Given the description of an element on the screen output the (x, y) to click on. 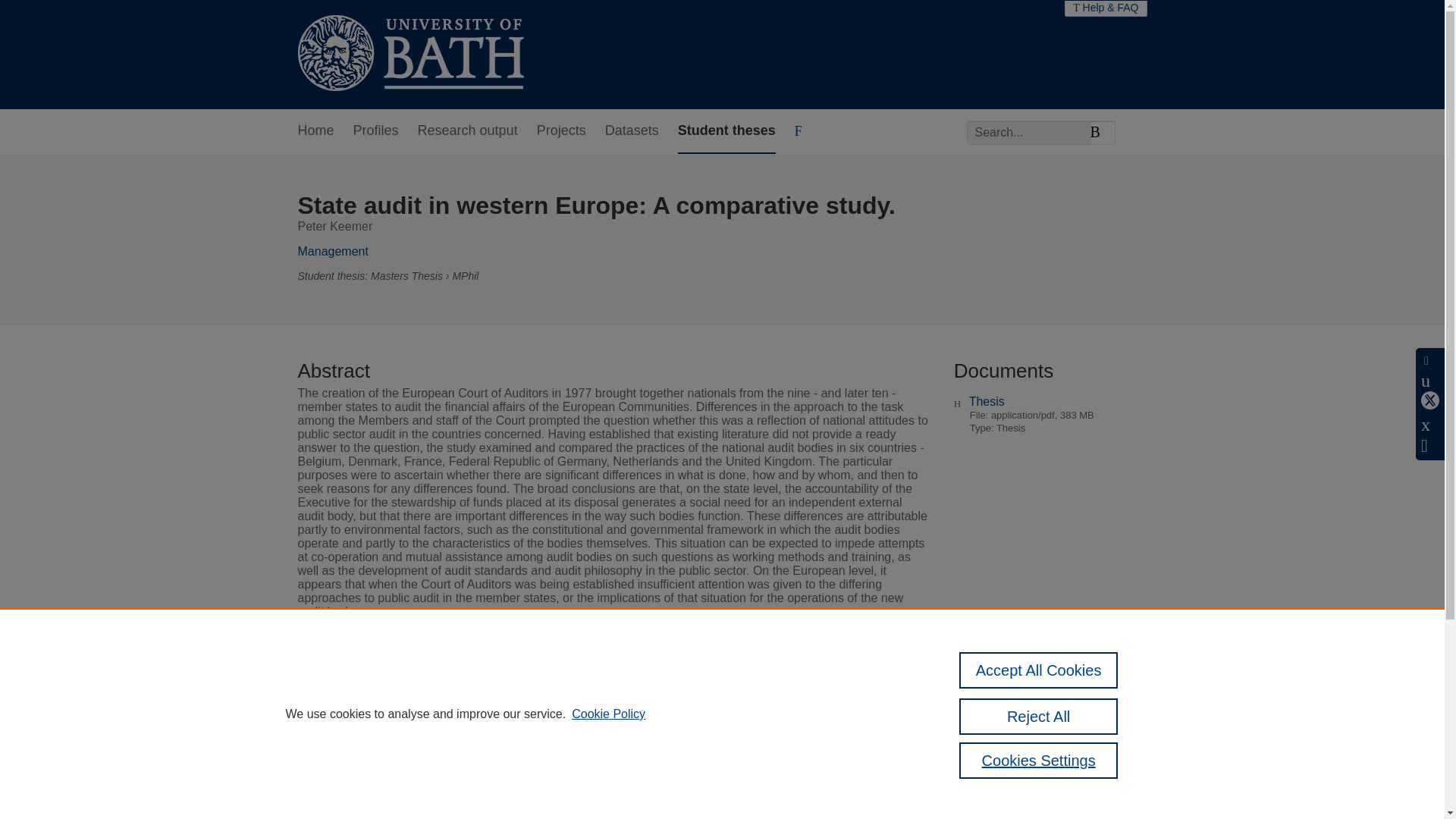
Management (332, 250)
Accept All Cookies (1038, 669)
Thesis (986, 400)
Projects (561, 130)
Reject All (1038, 716)
the University of Bath's research portal Home (409, 54)
Cookie Policy (608, 713)
Profiles (375, 130)
Cookies Settings (1038, 760)
Datasets (632, 130)
Research output (467, 130)
Student theses (727, 130)
